Given the description of an element on the screen output the (x, y) to click on. 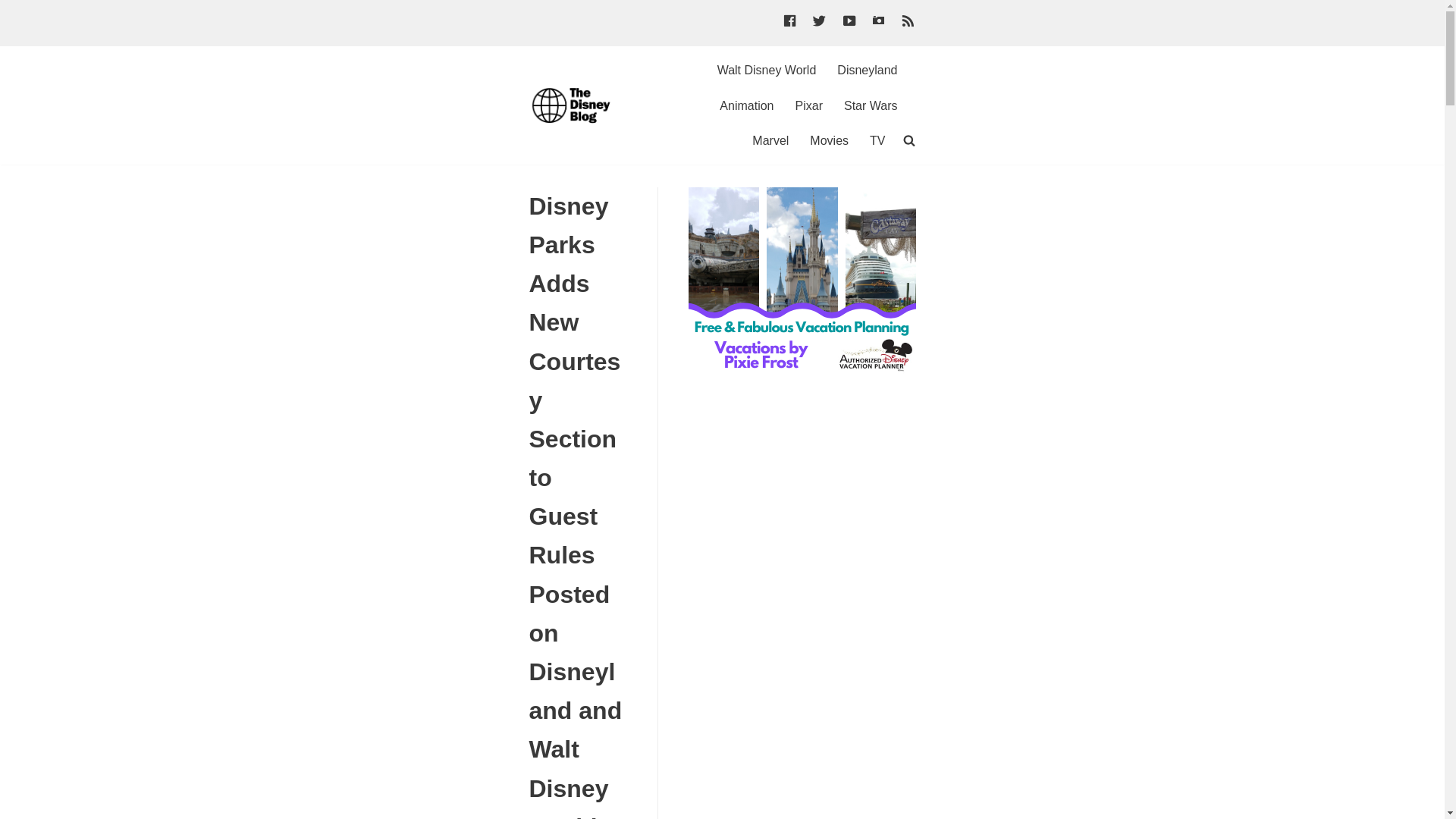
Marvel (770, 140)
Skip to content (15, 7)
Disneyland (866, 69)
Star Wars (871, 105)
Pixar (808, 105)
Animation (746, 105)
The Disney Blog (574, 104)
Movies (828, 140)
Walt Disney World (766, 69)
